Given the description of an element on the screen output the (x, y) to click on. 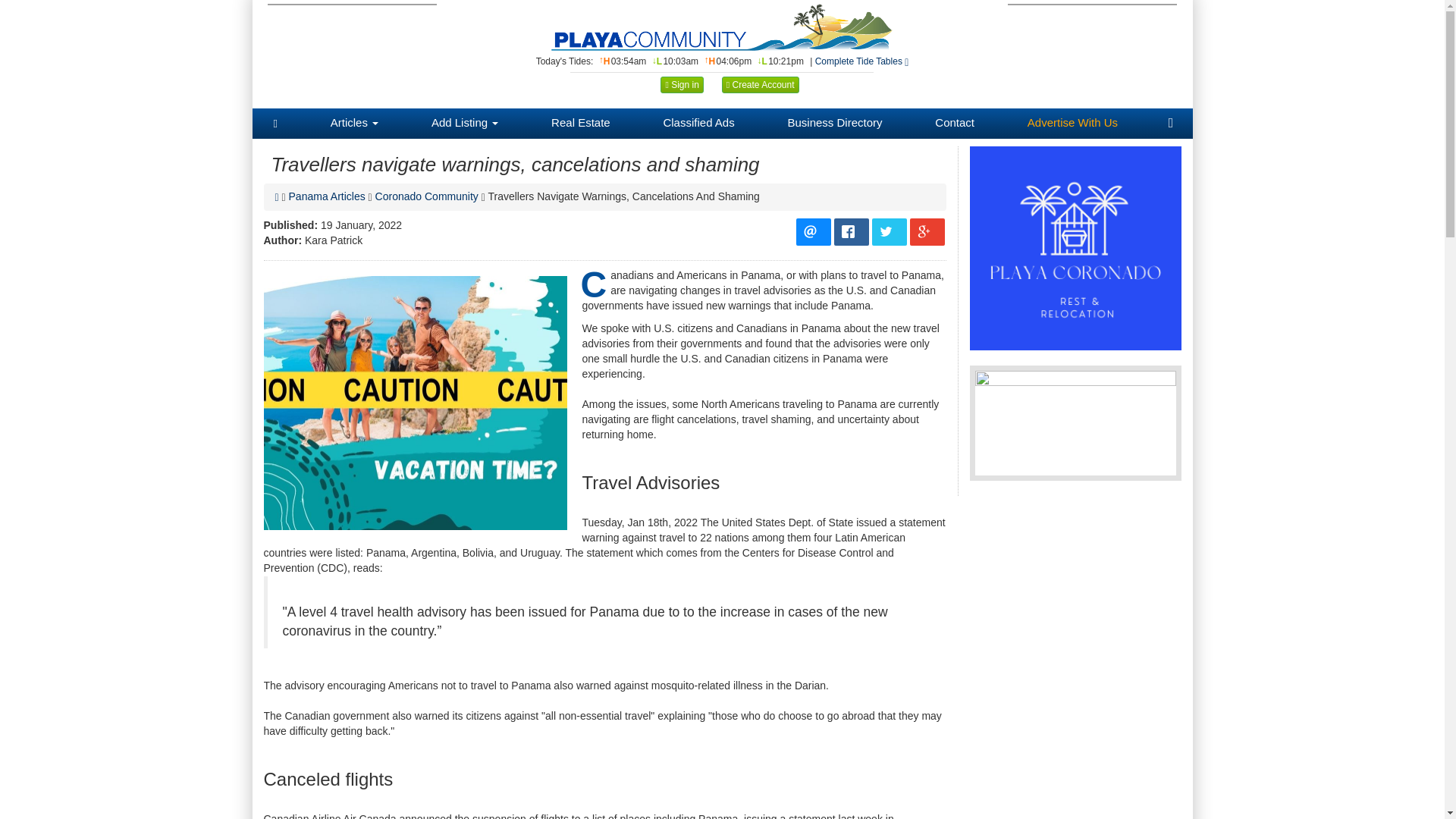
Complete Tide Tables (861, 61)
Coronado Panama Newspaper (721, 27)
Sign in (682, 84)
Create Account (760, 84)
Articles (354, 123)
